Given the description of an element on the screen output the (x, y) to click on. 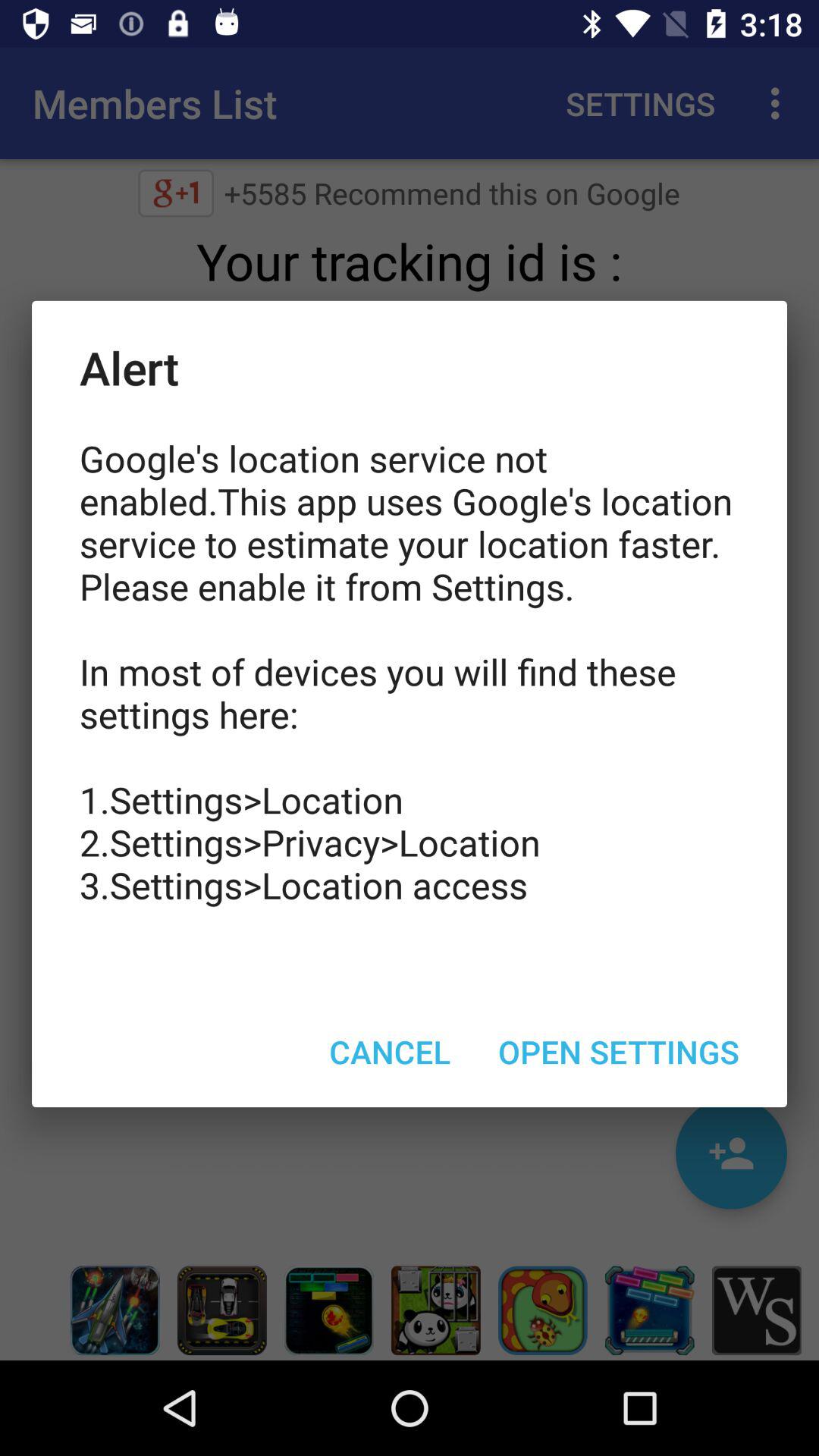
press the icon below google s location item (618, 1051)
